Given the description of an element on the screen output the (x, y) to click on. 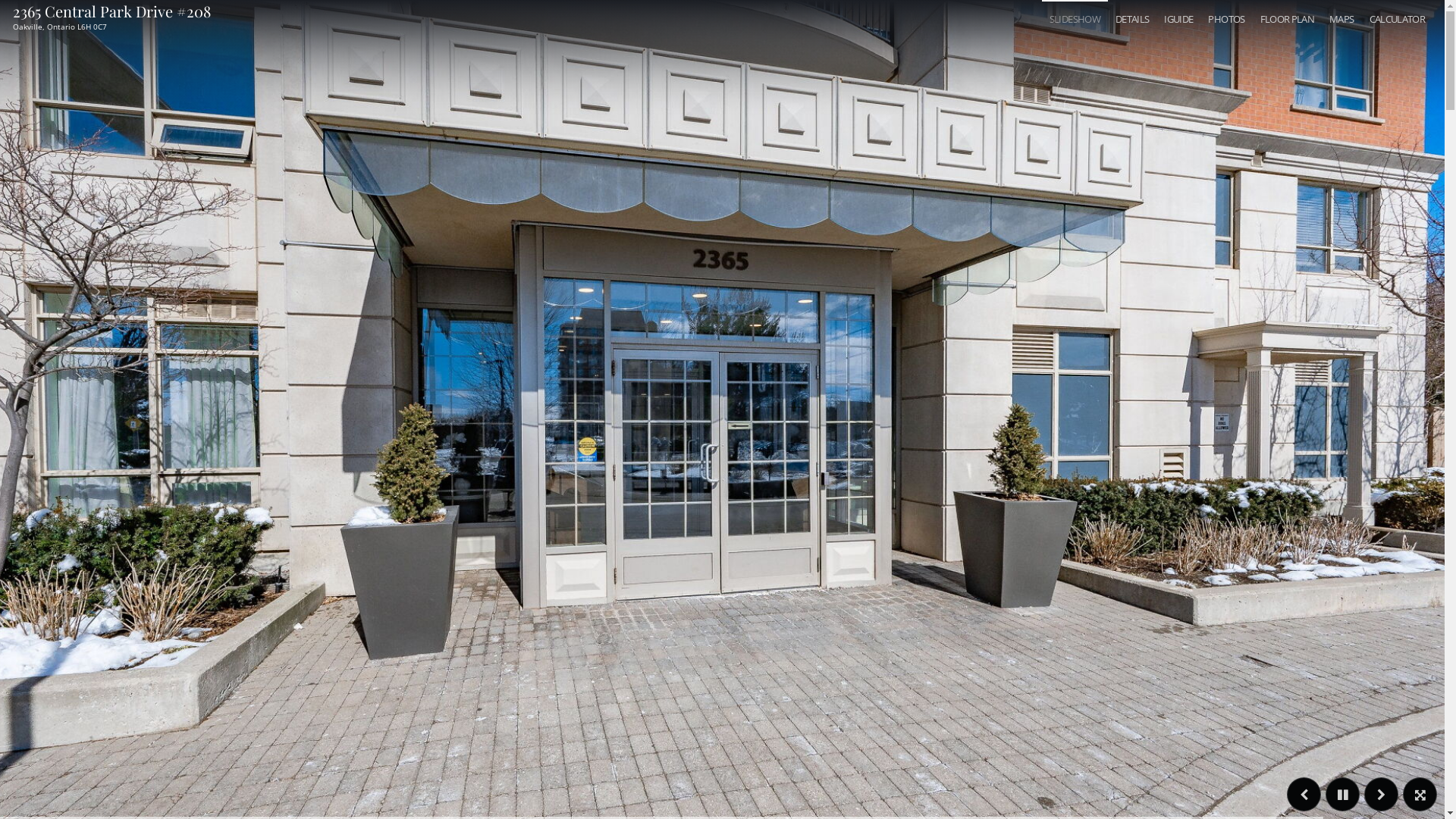
DETAILS Element type: text (1131, 19)
FLOOR PLAN Element type: text (1287, 19)
MAPS Element type: text (1341, 19)
SLIDESHOW Element type: text (1074, 19)
CALCULATOR Element type: text (1397, 19)
IGUIDE Element type: text (1178, 19)
PHOTOS Element type: text (1226, 19)
